Given the description of an element on the screen output the (x, y) to click on. 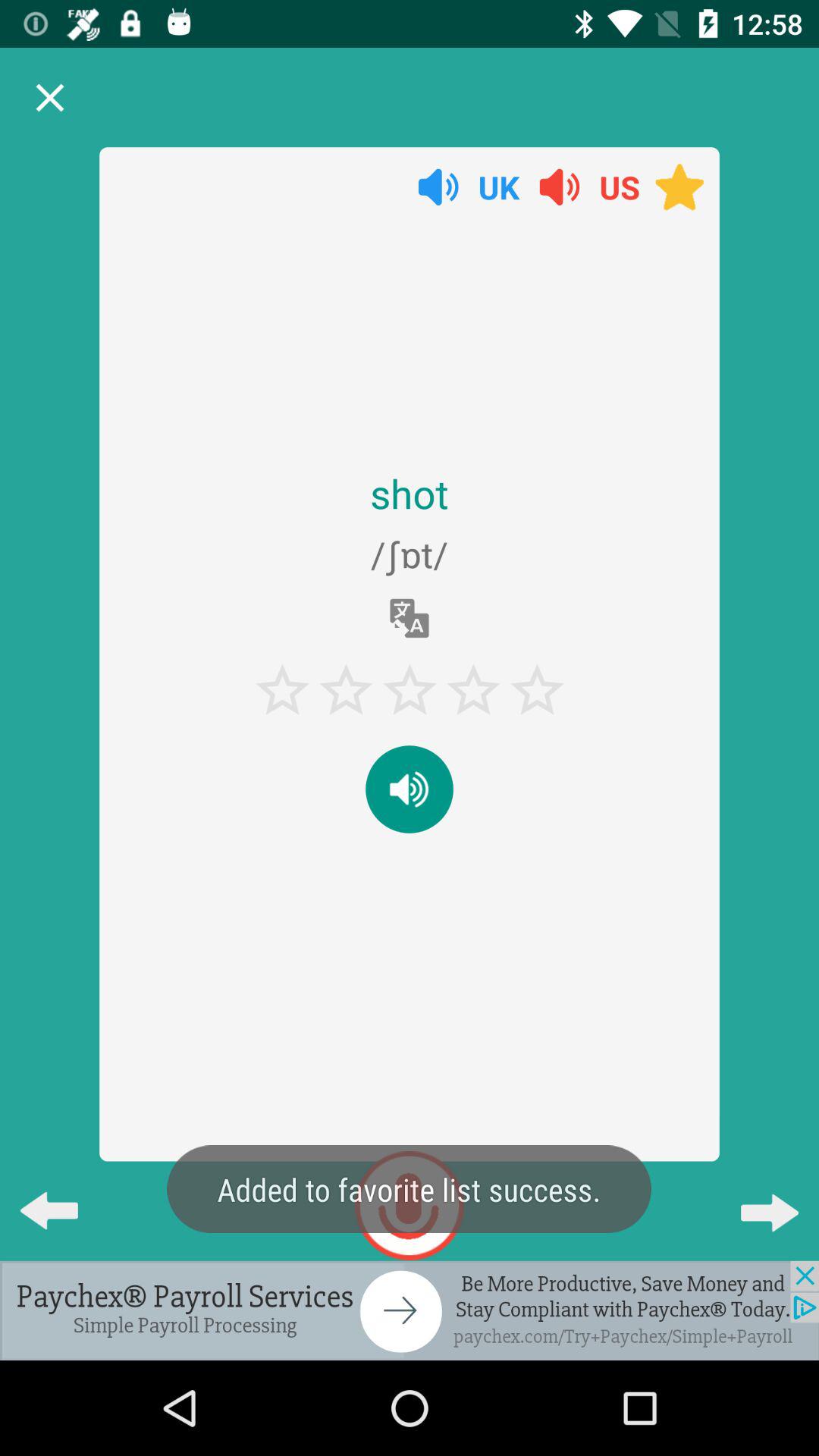
play audio (409, 789)
